Given the description of an element on the screen output the (x, y) to click on. 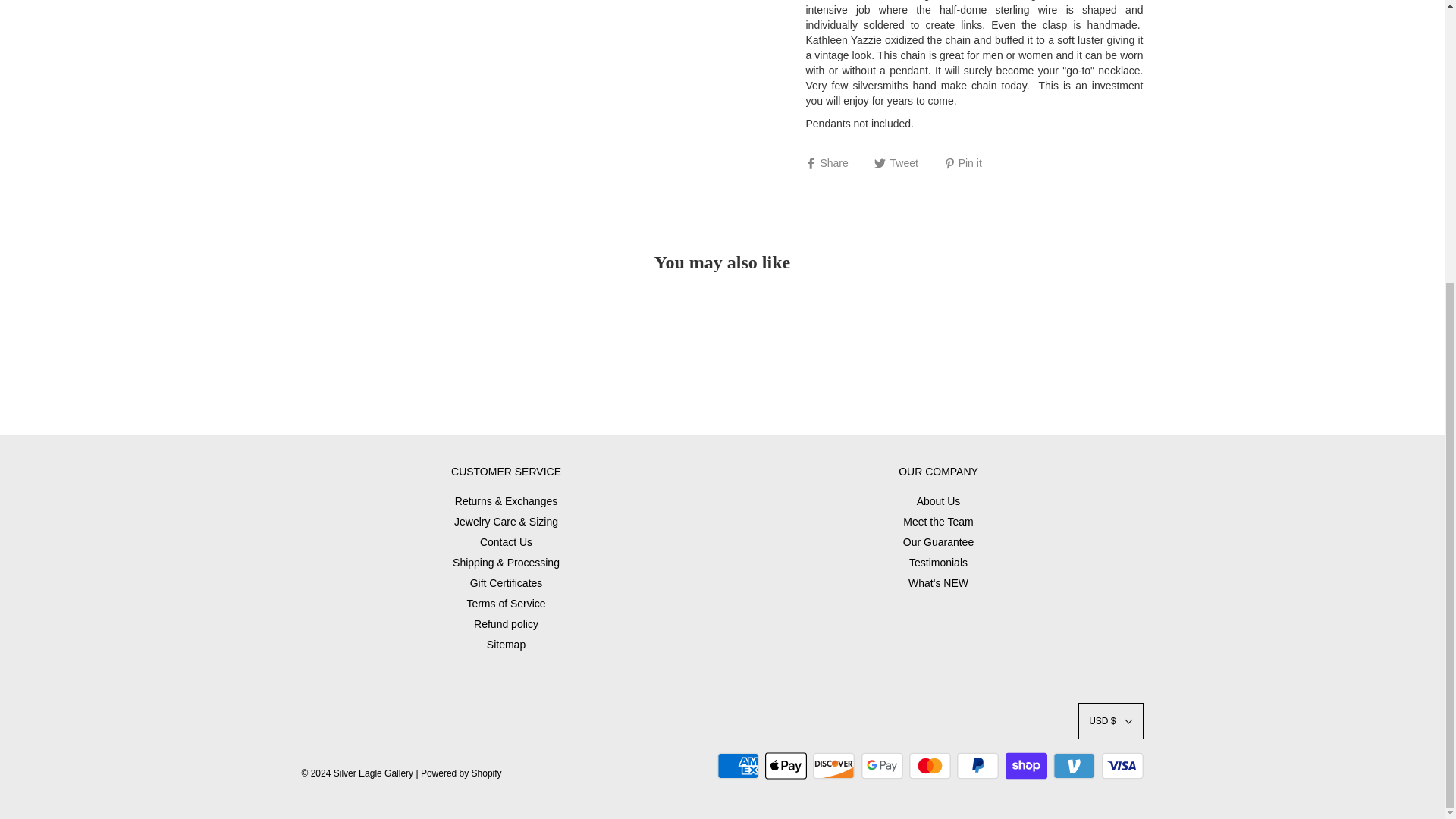
American Express (737, 766)
Discover (833, 766)
Google Pay (881, 766)
Apple Pay (785, 766)
